Given the description of an element on the screen output the (x, y) to click on. 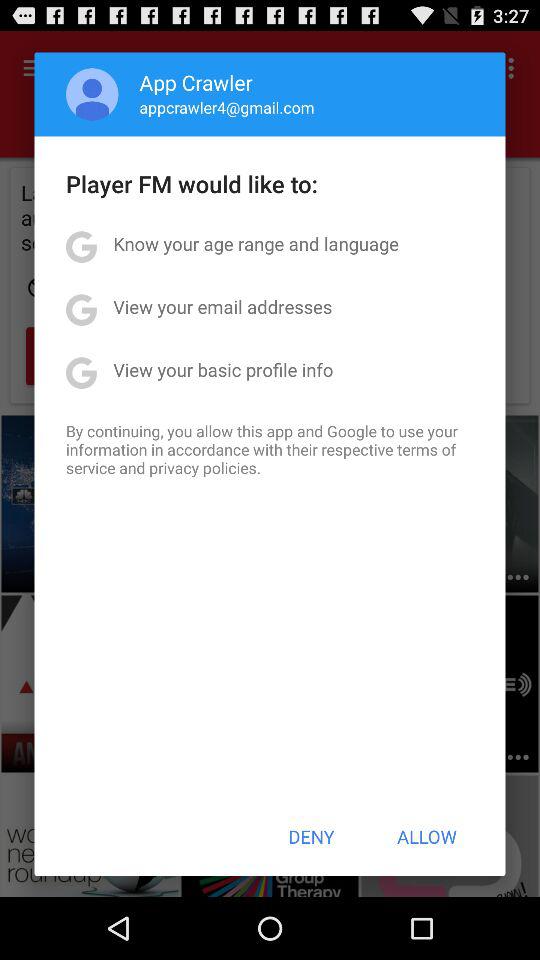
choose the deny at the bottom (311, 836)
